Given the description of an element on the screen output the (x, y) to click on. 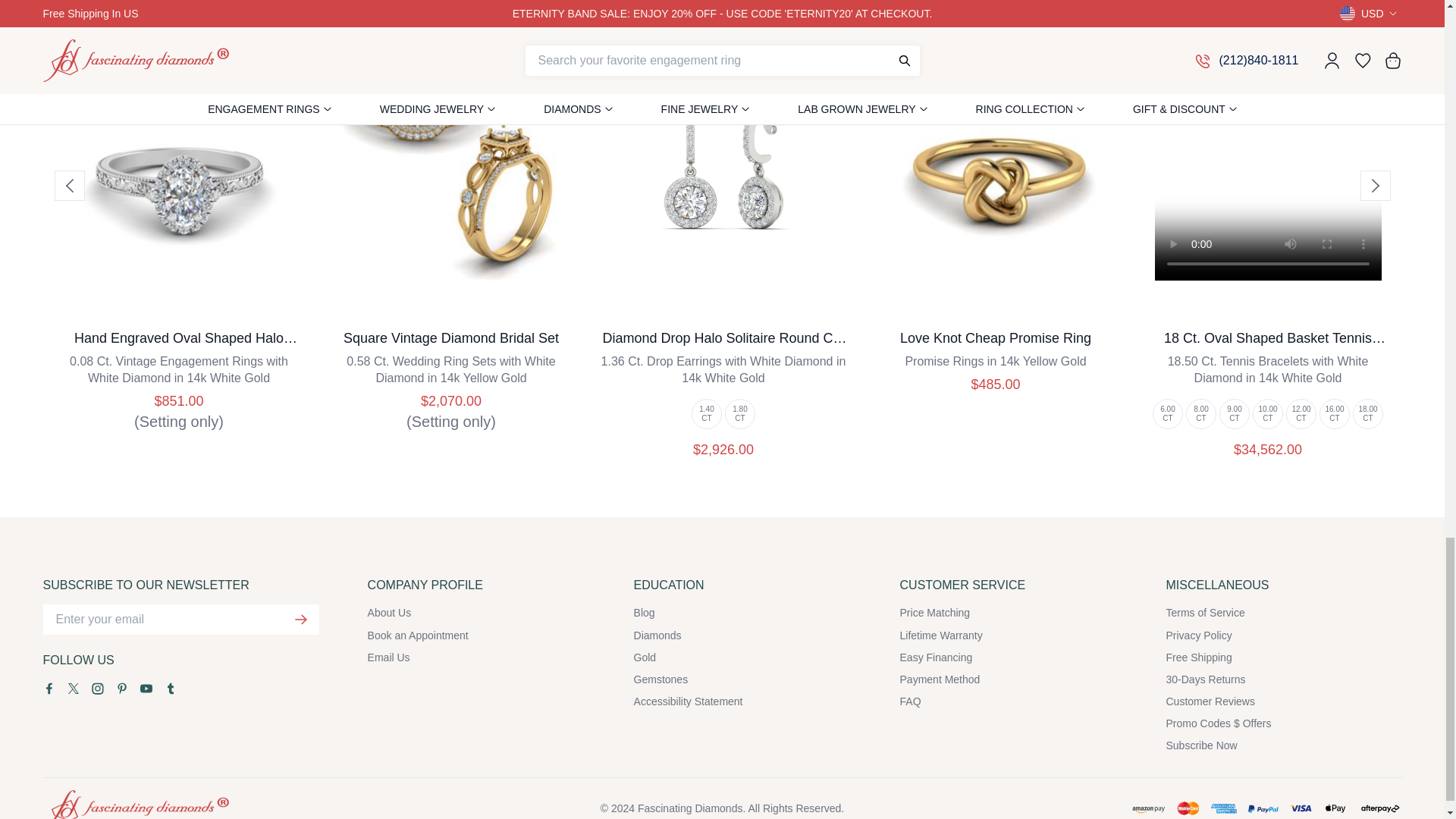
Facebook (48, 688)
Twitter (72, 688)
